Given the description of an element on the screen output the (x, y) to click on. 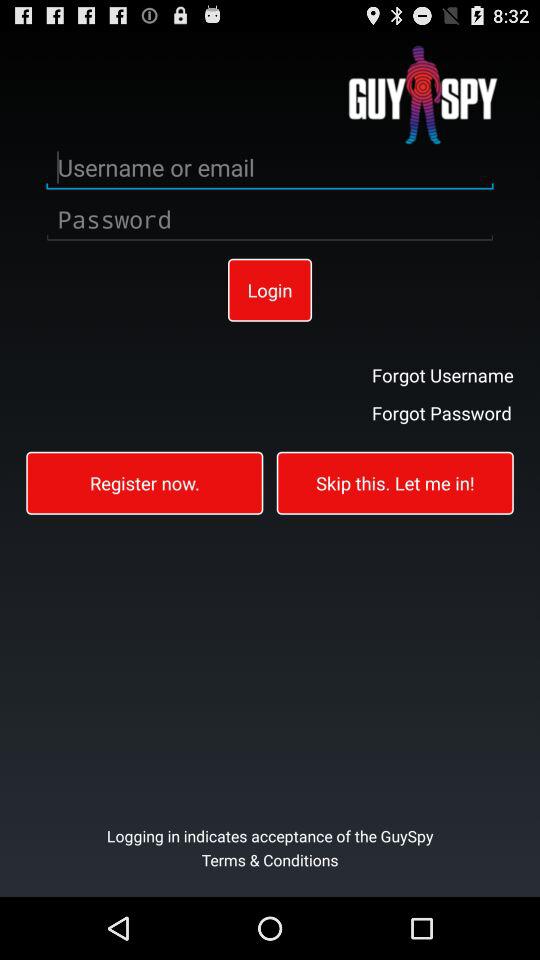
click the button on the left (144, 482)
